Given the description of an element on the screen output the (x, y) to click on. 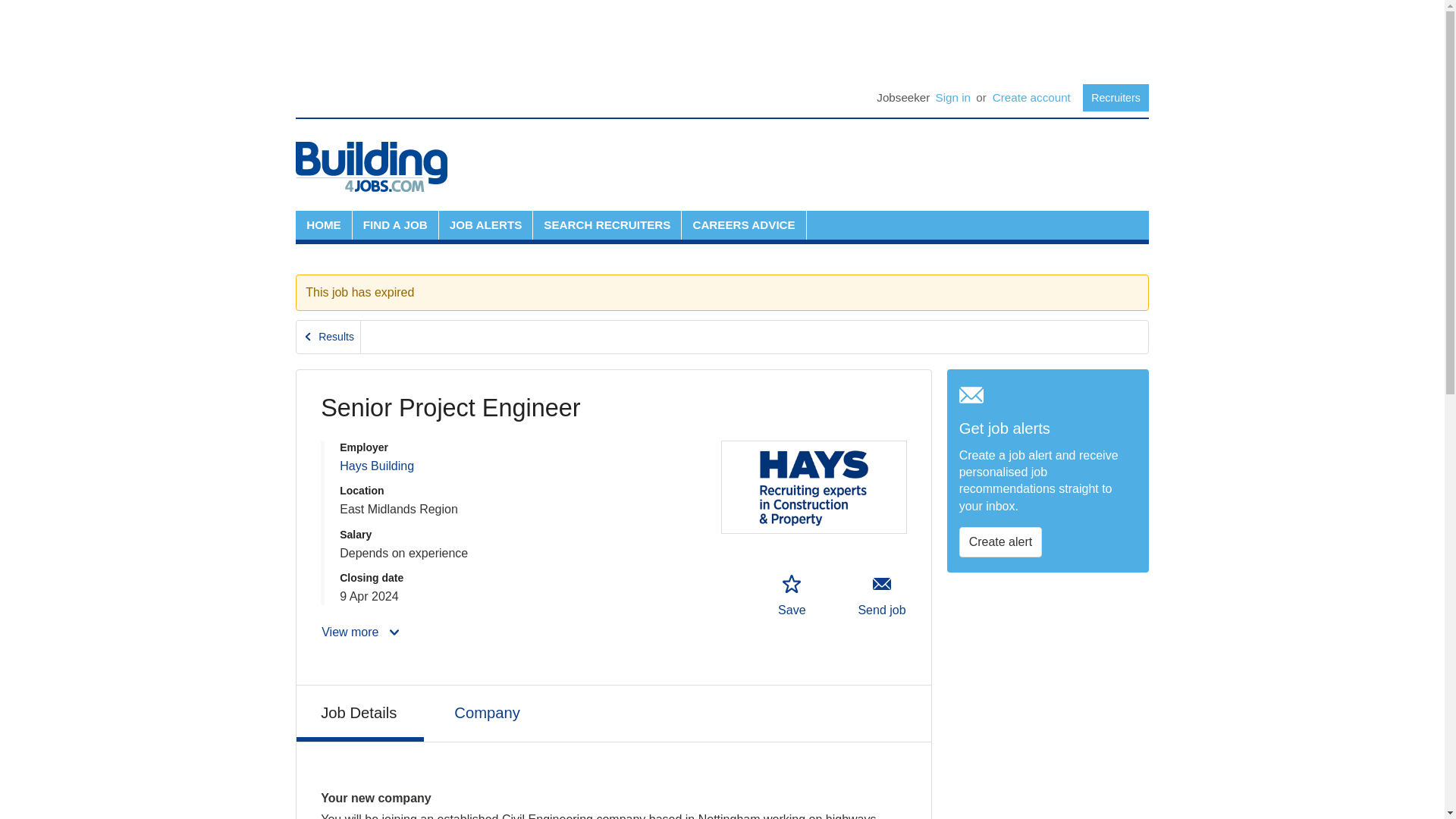
Sign in (952, 96)
Recruiters (1115, 97)
Job Details (360, 713)
HOME (323, 224)
Create account (1031, 96)
SEARCH RECRUITERS (606, 224)
Hays Building (376, 465)
Company (488, 711)
FIND A JOB (395, 224)
JOB ALERTS (485, 224)
Create alert (1000, 542)
Building4jobs (370, 166)
View more (360, 632)
Results (329, 336)
CAREERS ADVICE (743, 224)
